Given the description of an element on the screen output the (x, y) to click on. 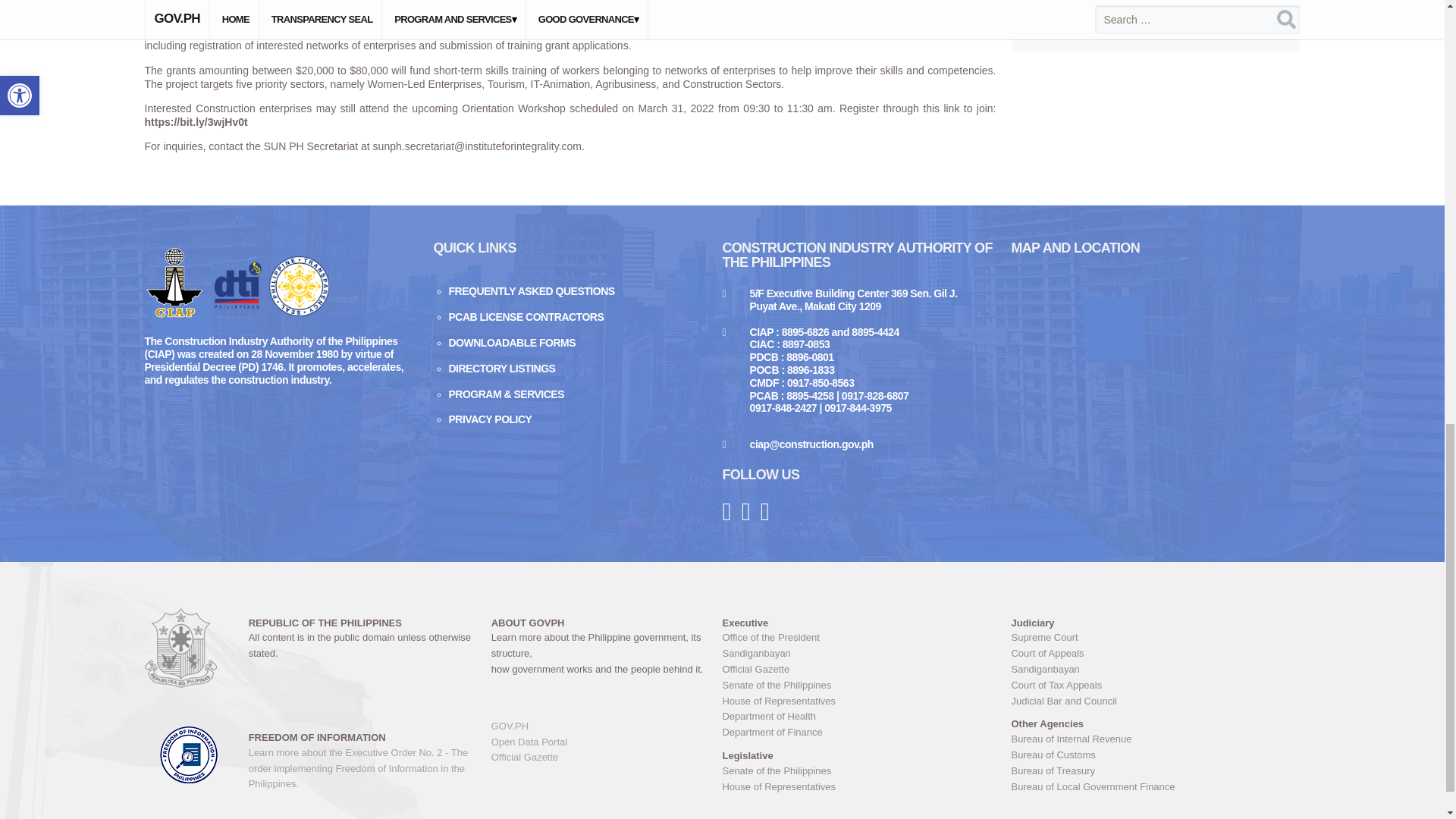
Read More.. (1147, 80)
Read More.. (1147, 301)
Read More.. (1147, 191)
